Given the description of an element on the screen output the (x, y) to click on. 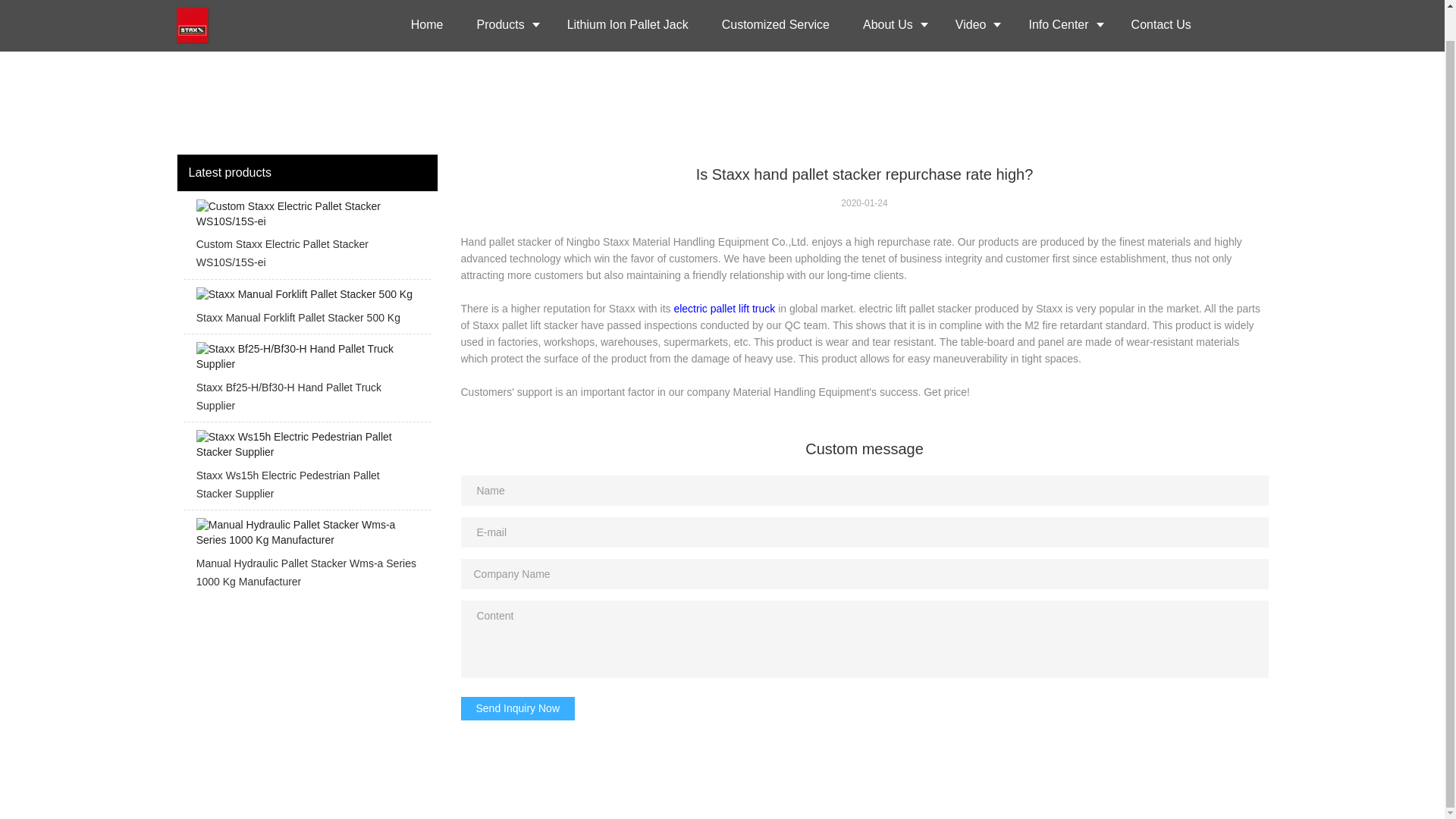
Customized Service (774, 25)
Products (505, 25)
Home (427, 25)
Lithium Ion Pallet Jack (627, 25)
About Us (892, 25)
